Given the description of an element on the screen output the (x, y) to click on. 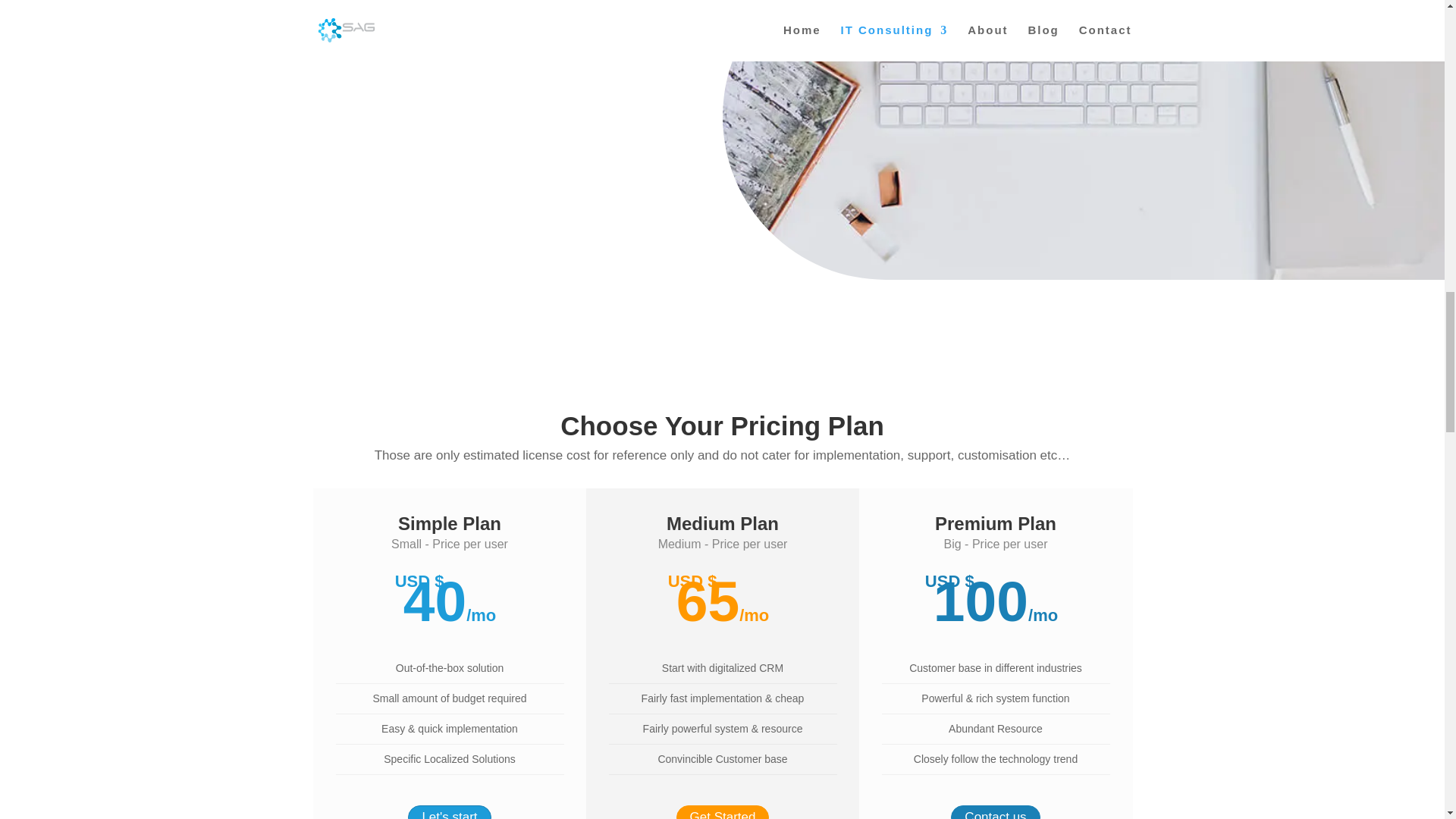
Contact us (994, 812)
Get Started (723, 812)
Let's start (448, 812)
